Given the description of an element on the screen output the (x, y) to click on. 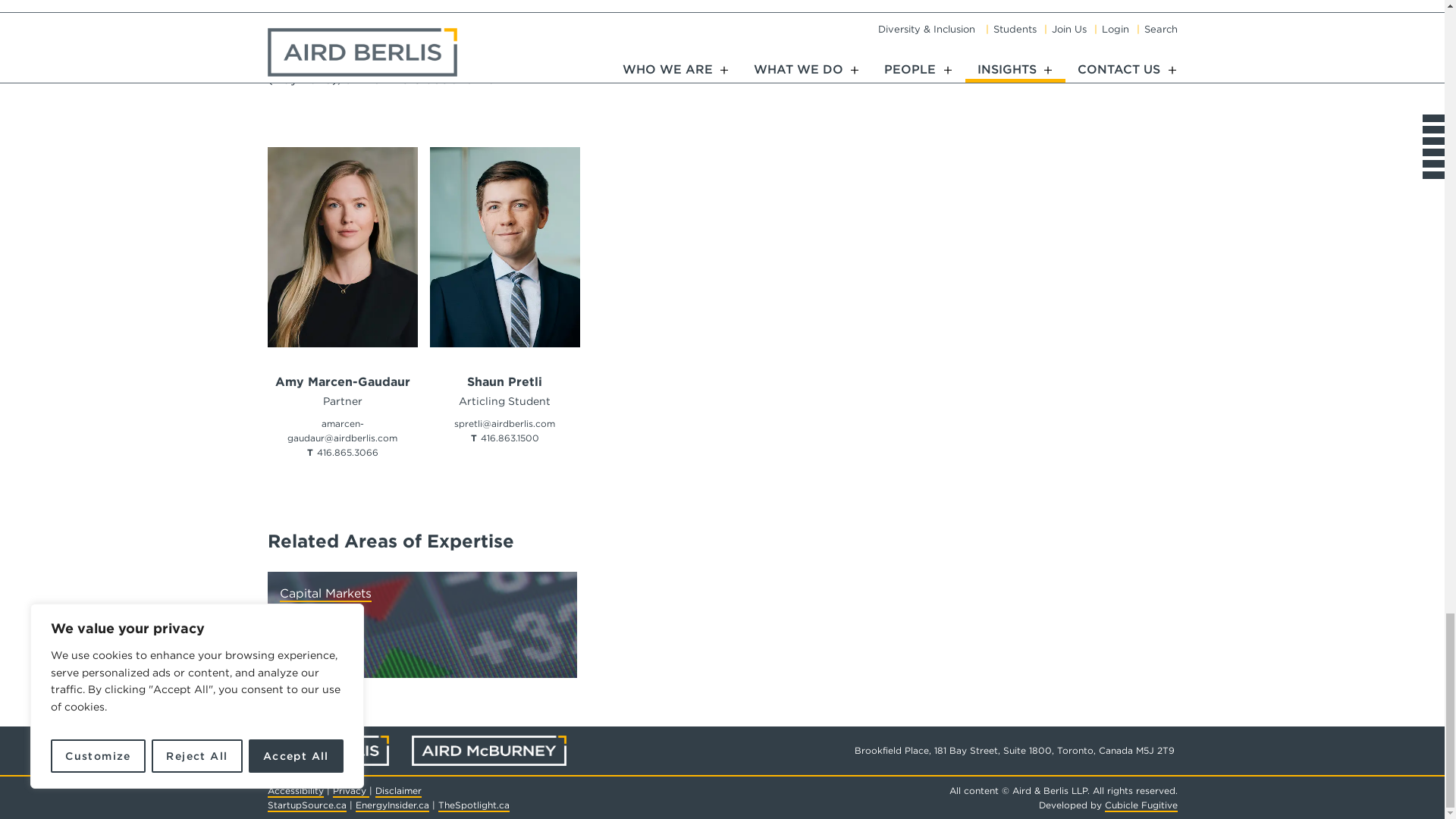
Amy Marcen-Gaudaur (342, 381)
Call now (347, 451)
Email now (341, 430)
